Given the description of an element on the screen output the (x, y) to click on. 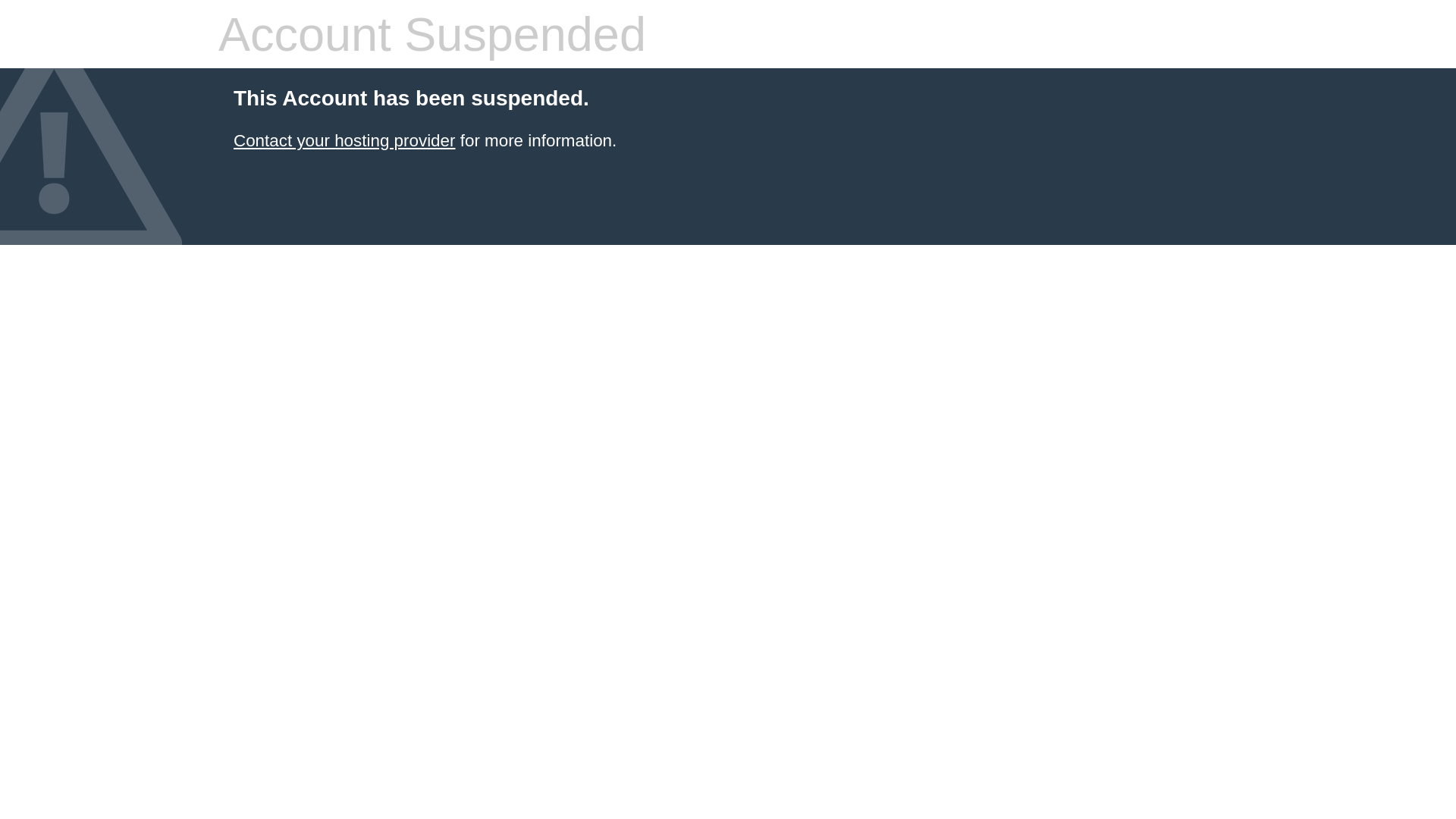
Contact your hosting provider Element type: text (344, 140)
